Given the description of an element on the screen output the (x, y) to click on. 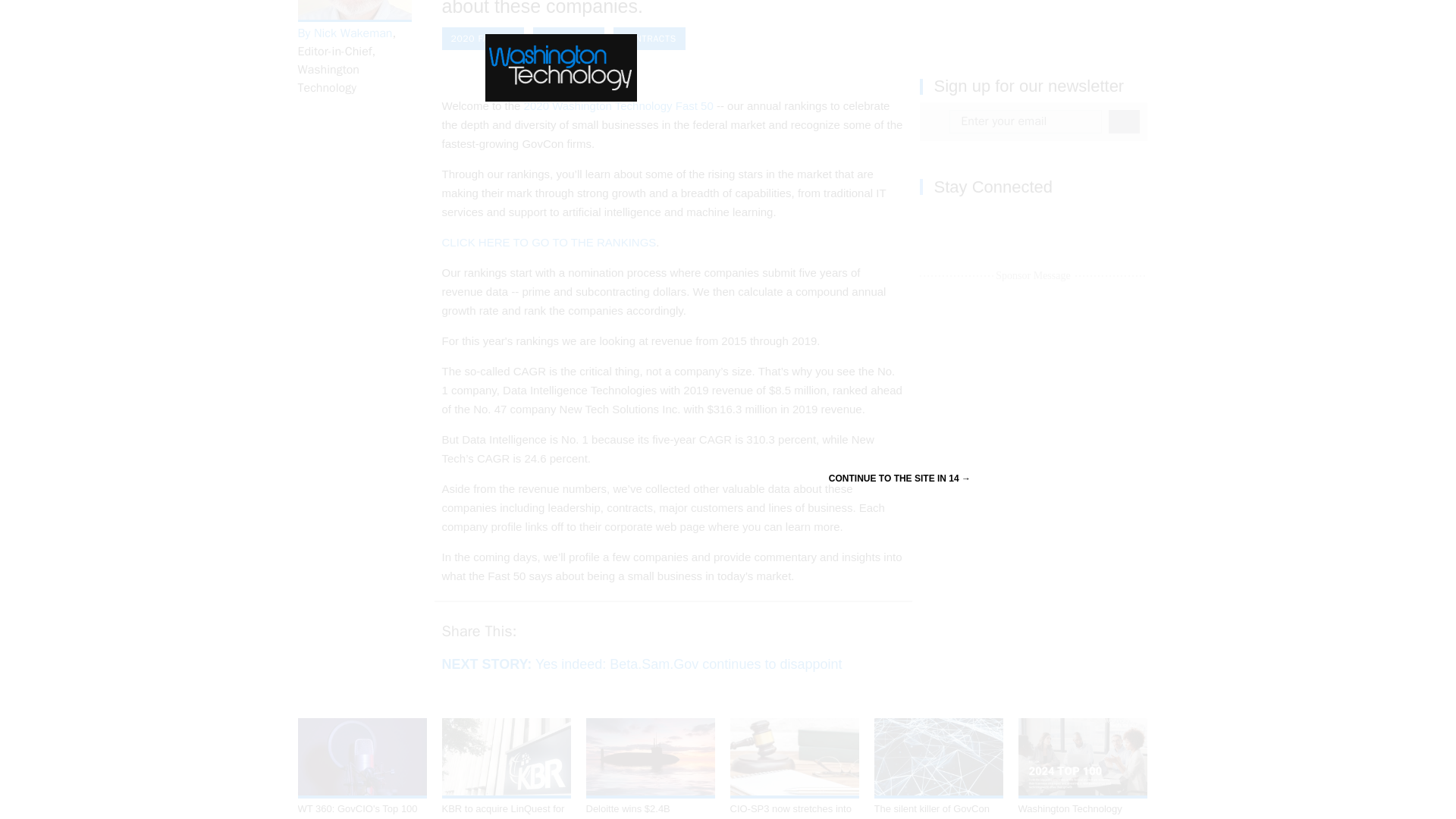
3rd party ad content (1032, 20)
